Given the description of an element on the screen output the (x, y) to click on. 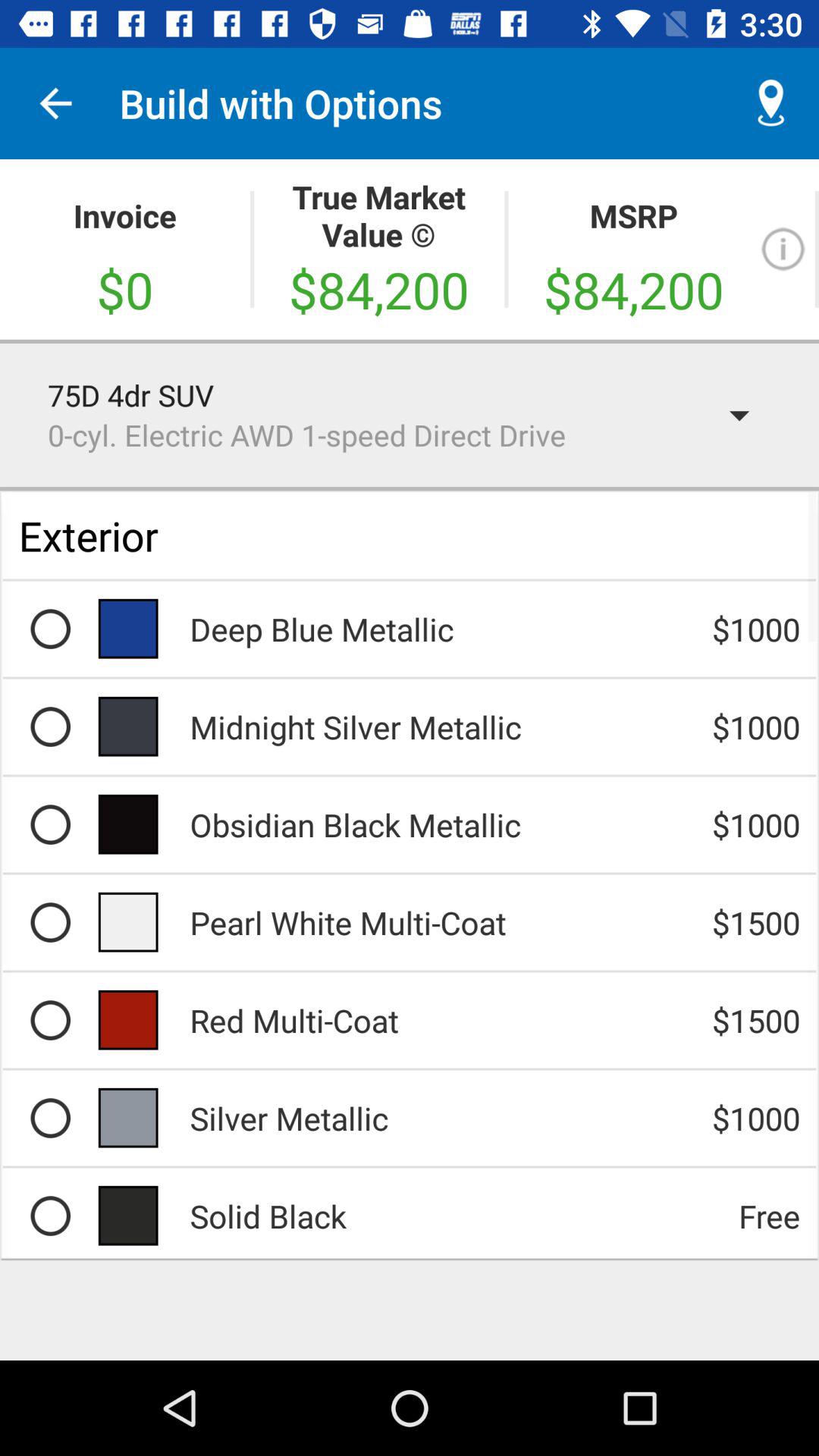
select the row of products (50, 1215)
